Given the description of an element on the screen output the (x, y) to click on. 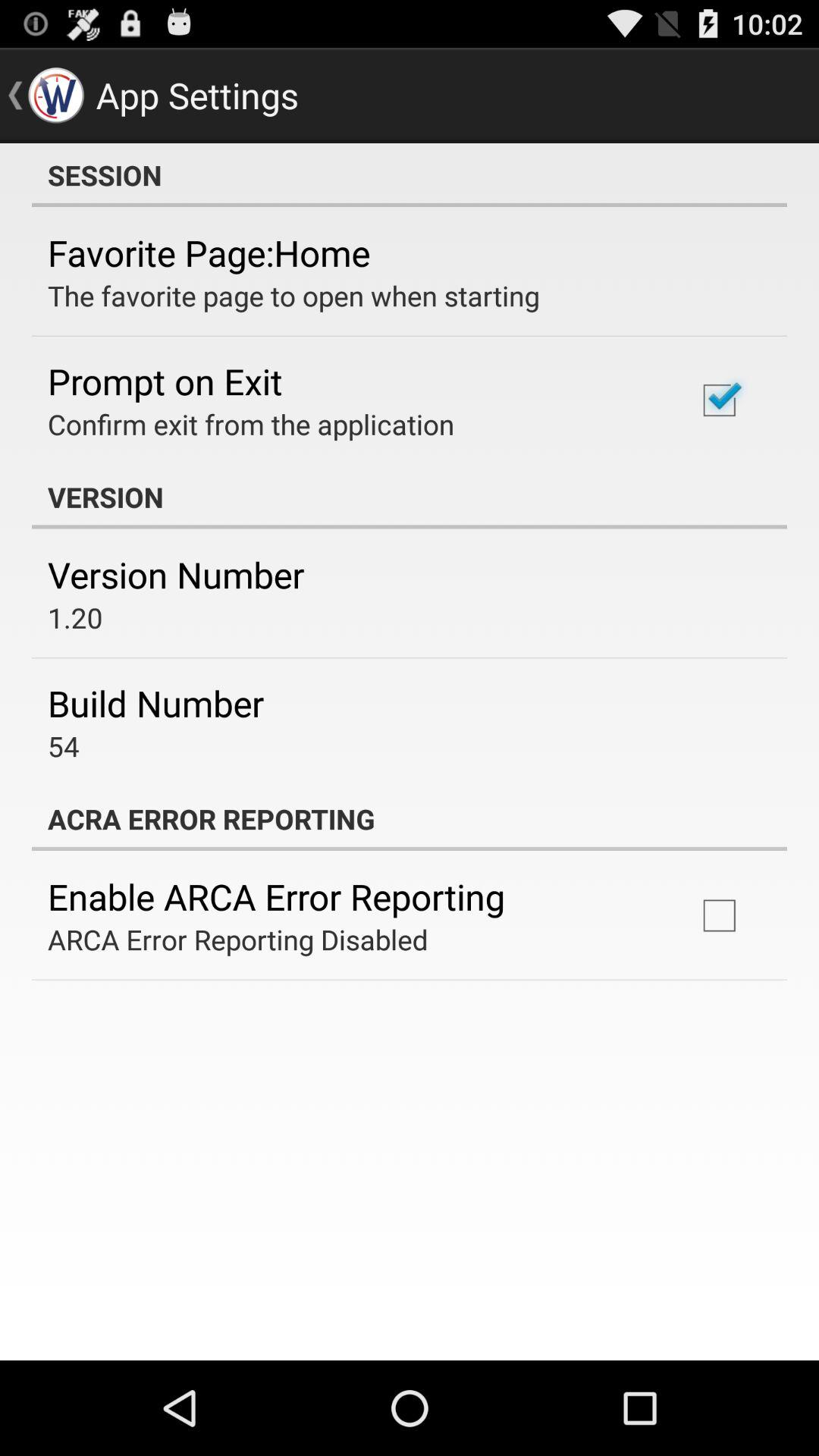
scroll until prompt on exit icon (164, 381)
